Given the description of an element on the screen output the (x, y) to click on. 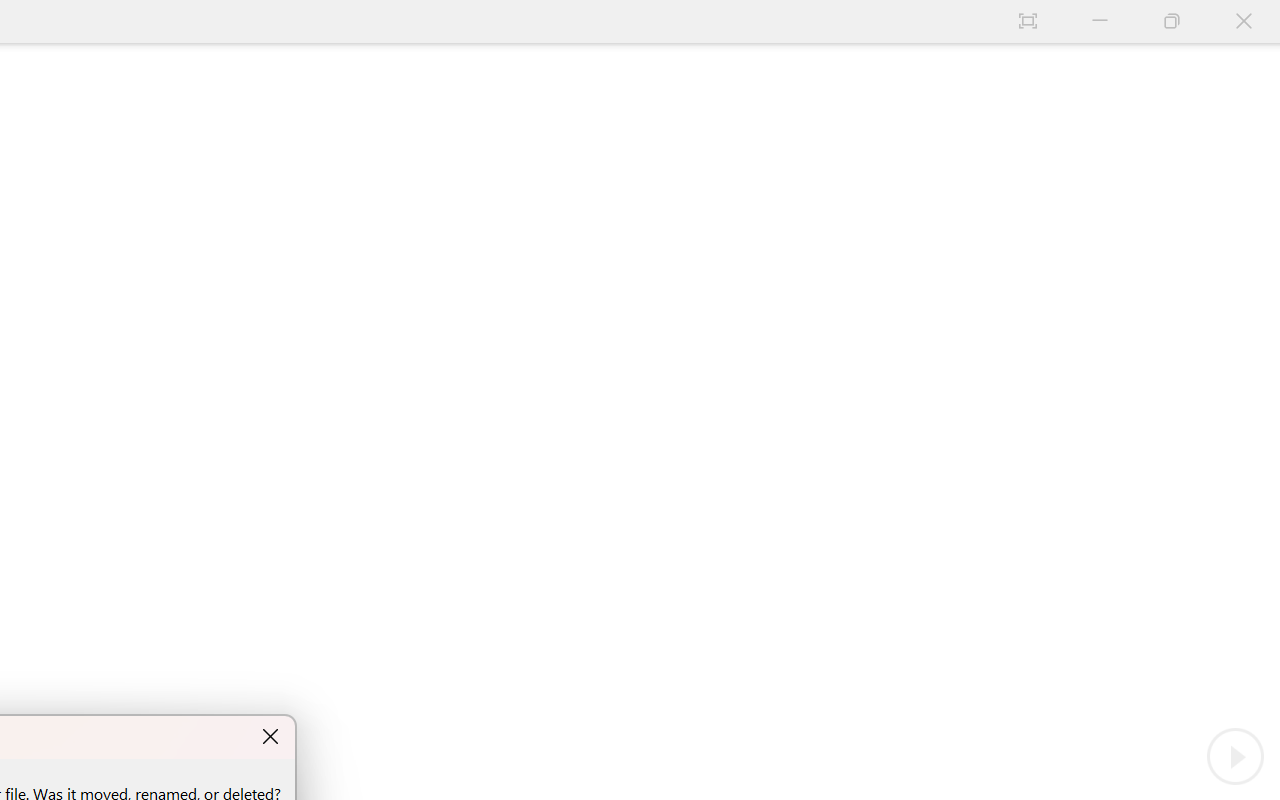
Minimize (1099, 21)
Restore Down (1172, 21)
Auto-hide Reading Toolbar (1027, 21)
Close (1244, 21)
